Given the description of an element on the screen output the (x, y) to click on. 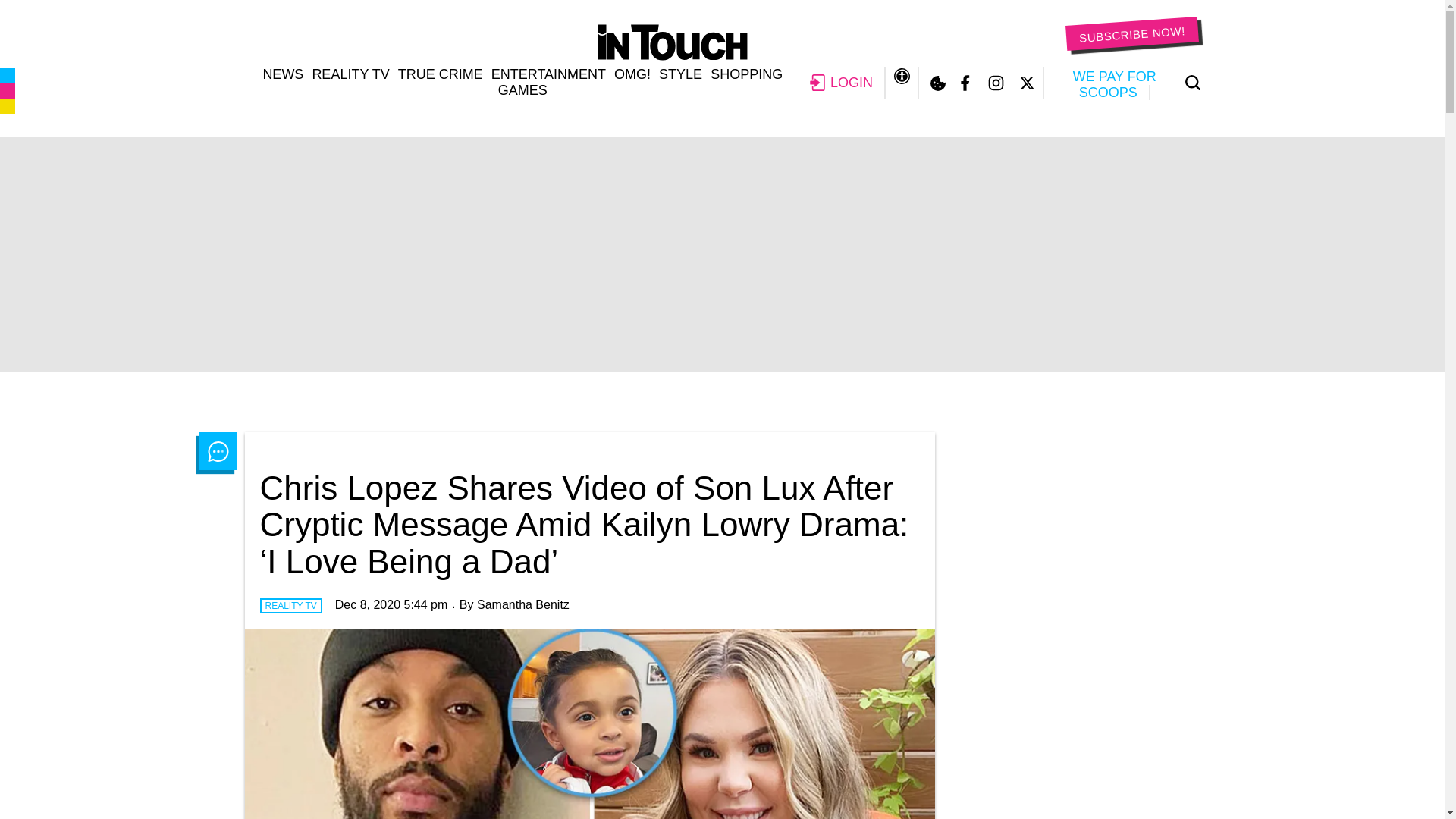
Posts by Samantha Benitz (523, 604)
NEWS (282, 73)
REALITY TV (349, 73)
TRUE CRIME (440, 73)
